Given the description of an element on the screen output the (x, y) to click on. 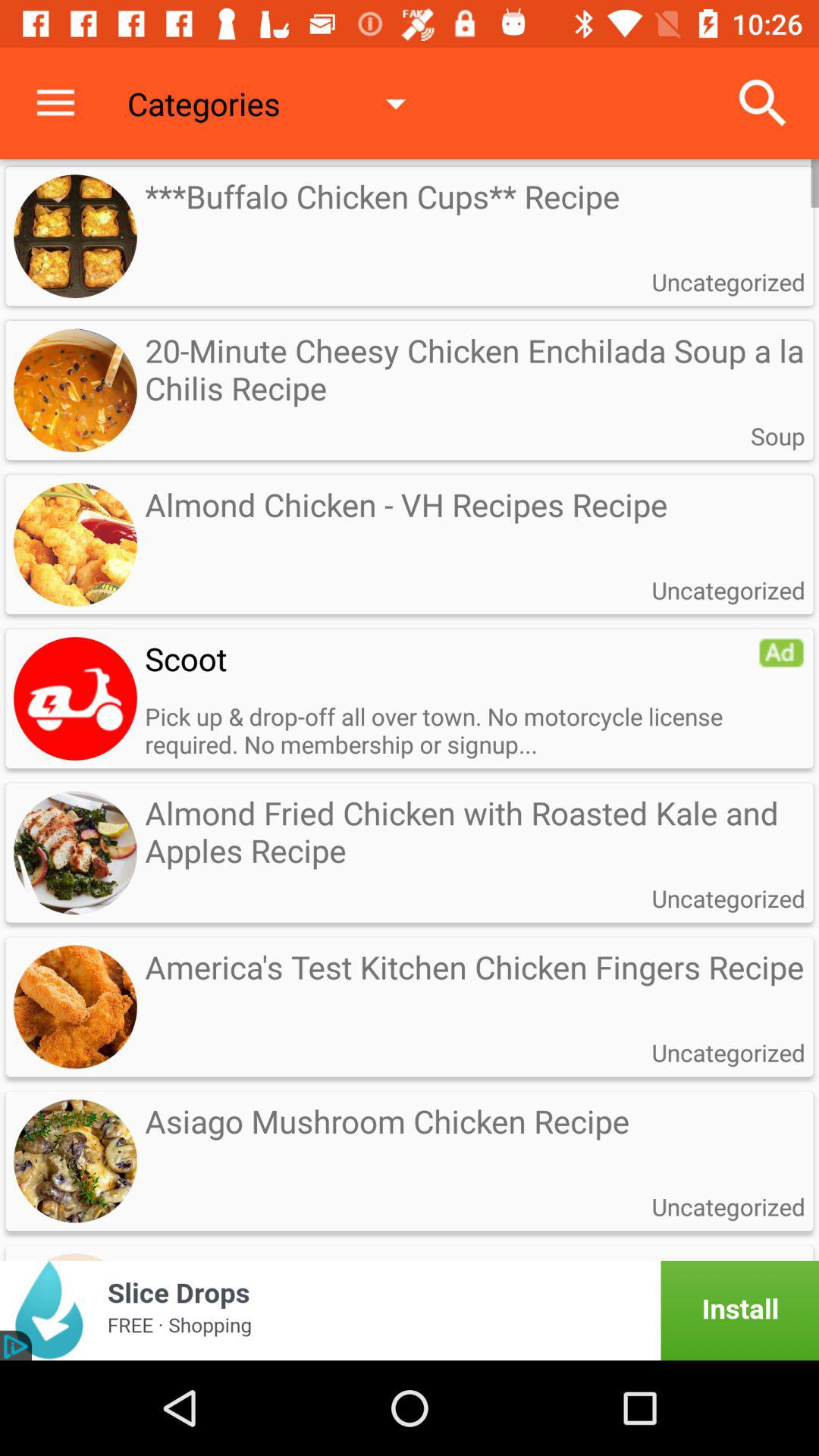
advertisement link (409, 1310)
